Given the description of an element on the screen output the (x, y) to click on. 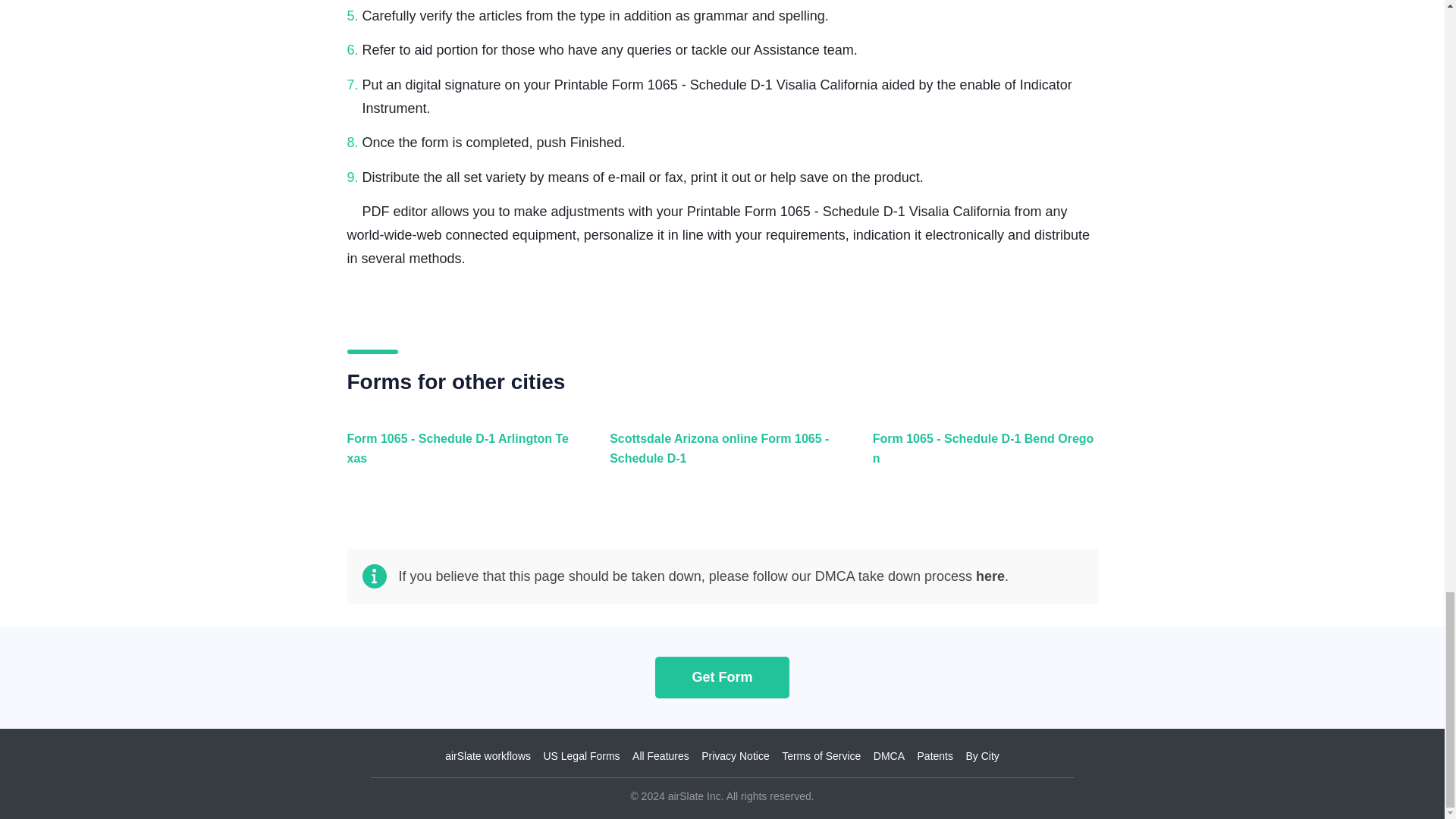
Form 1065 - Schedule D-1 Bend Oregon (981, 456)
Patents (935, 756)
Scottsdale Arizona online Form 1065 - Schedule D-1 (718, 456)
Privacy Notice (734, 756)
here (989, 575)
Form 1065 - Schedule D-1 Arlington Texas (456, 456)
US Legal Forms (581, 756)
Terms of Service (820, 756)
Get Form (722, 676)
By City (981, 756)
airSlate workflows (488, 756)
All Features (659, 756)
DMCA (888, 756)
